Given the description of an element on the screen output the (x, y) to click on. 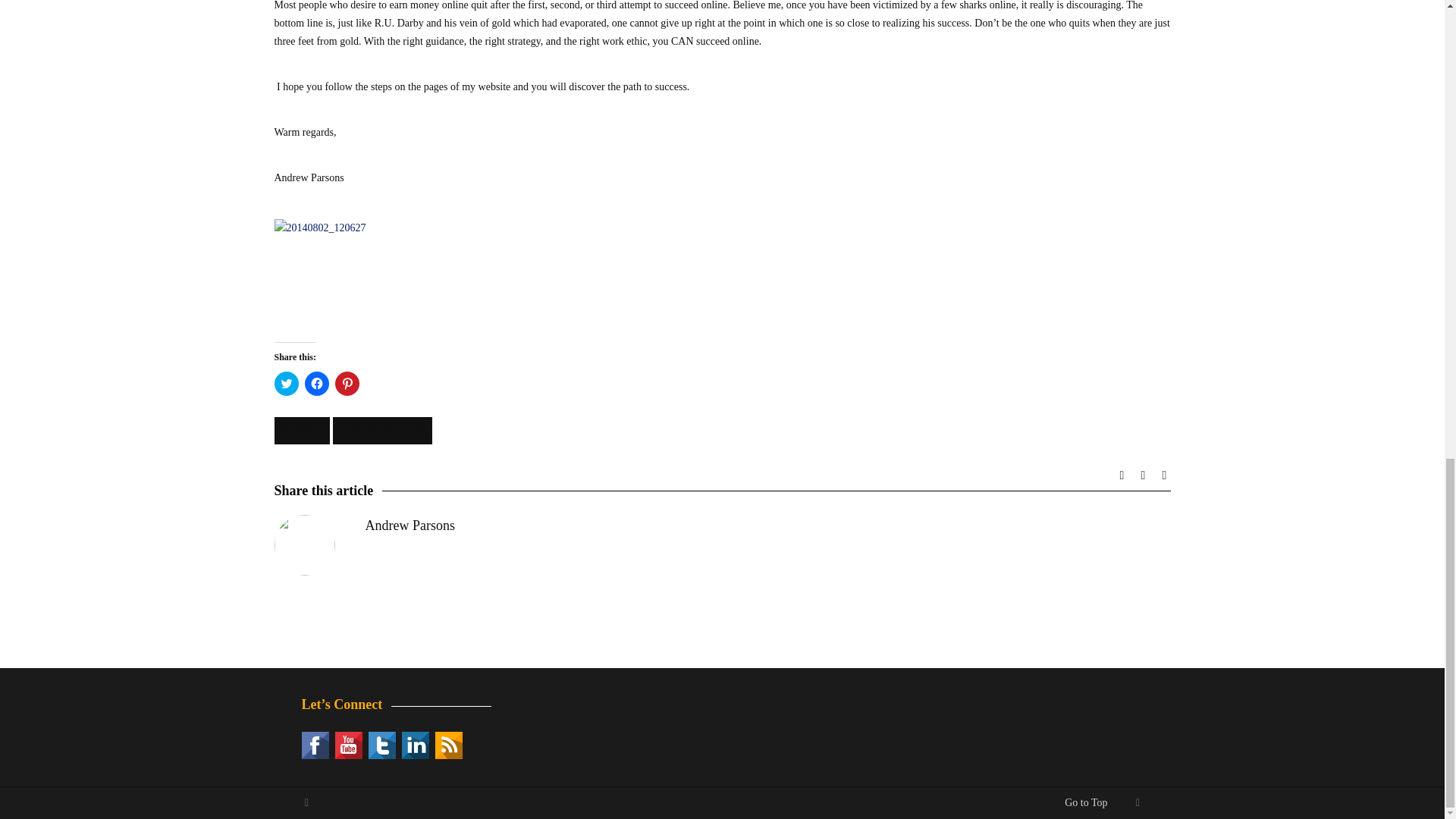
three feet from gold (382, 430)
UP! (1137, 802)
Click to share on Twitter (286, 383)
hardships (302, 430)
UP! (307, 802)
Click to share on Pinterest (346, 383)
Click to share on Facebook (316, 383)
